Given the description of an element on the screen output the (x, y) to click on. 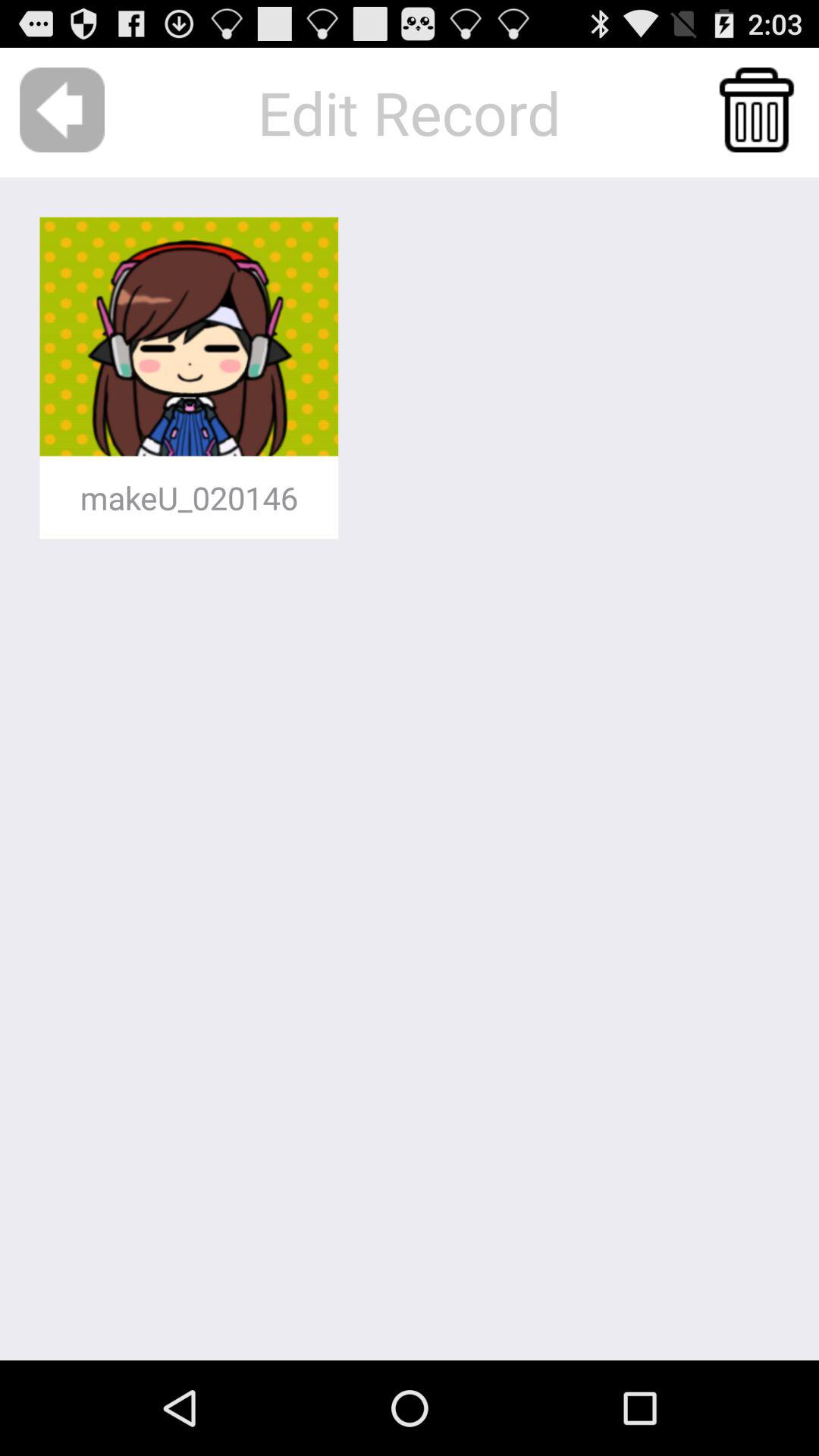
discard (756, 109)
